Given the description of an element on the screen output the (x, y) to click on. 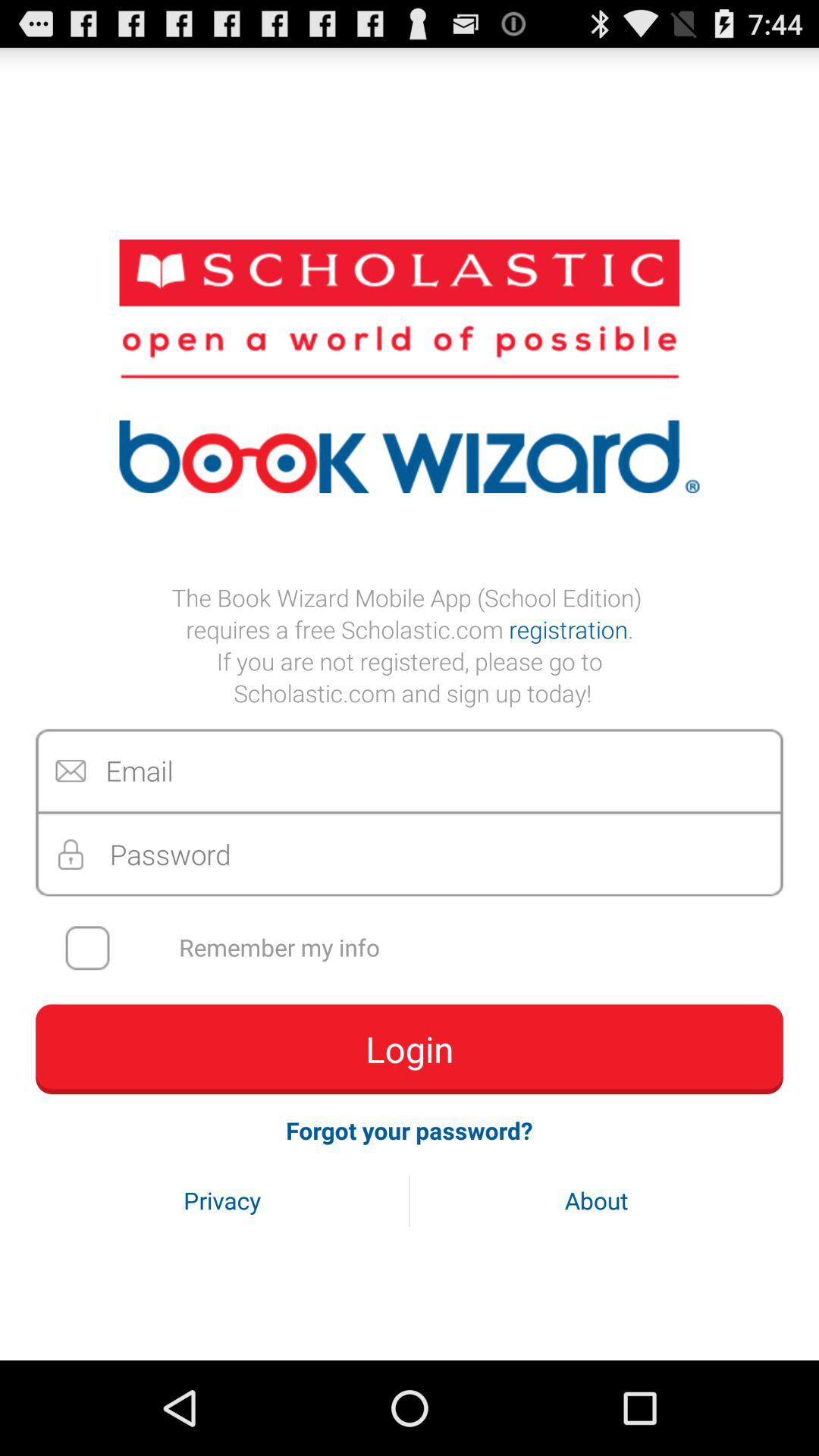
swipe until the the book wizard item (409, 645)
